Given the description of an element on the screen output the (x, y) to click on. 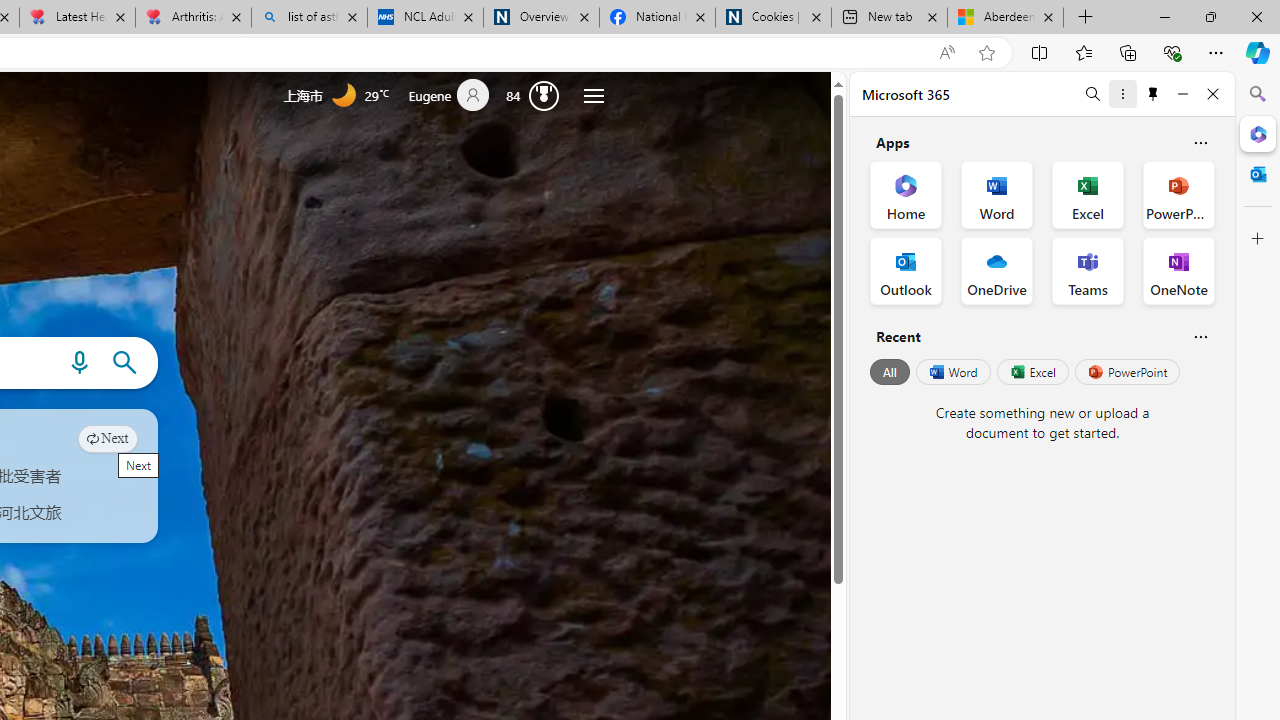
Aberdeen, Hong Kong SAR hourly forecast | Microsoft Weather (1005, 17)
Excel Office App (1087, 194)
PowerPoint (1127, 372)
Cookies | About | NICE (772, 17)
Close Outlook pane (1258, 174)
Arthritis: Ask Health Professionals (192, 17)
Excel (1031, 372)
Close Customize pane (1258, 239)
